Given the description of an element on the screen output the (x, y) to click on. 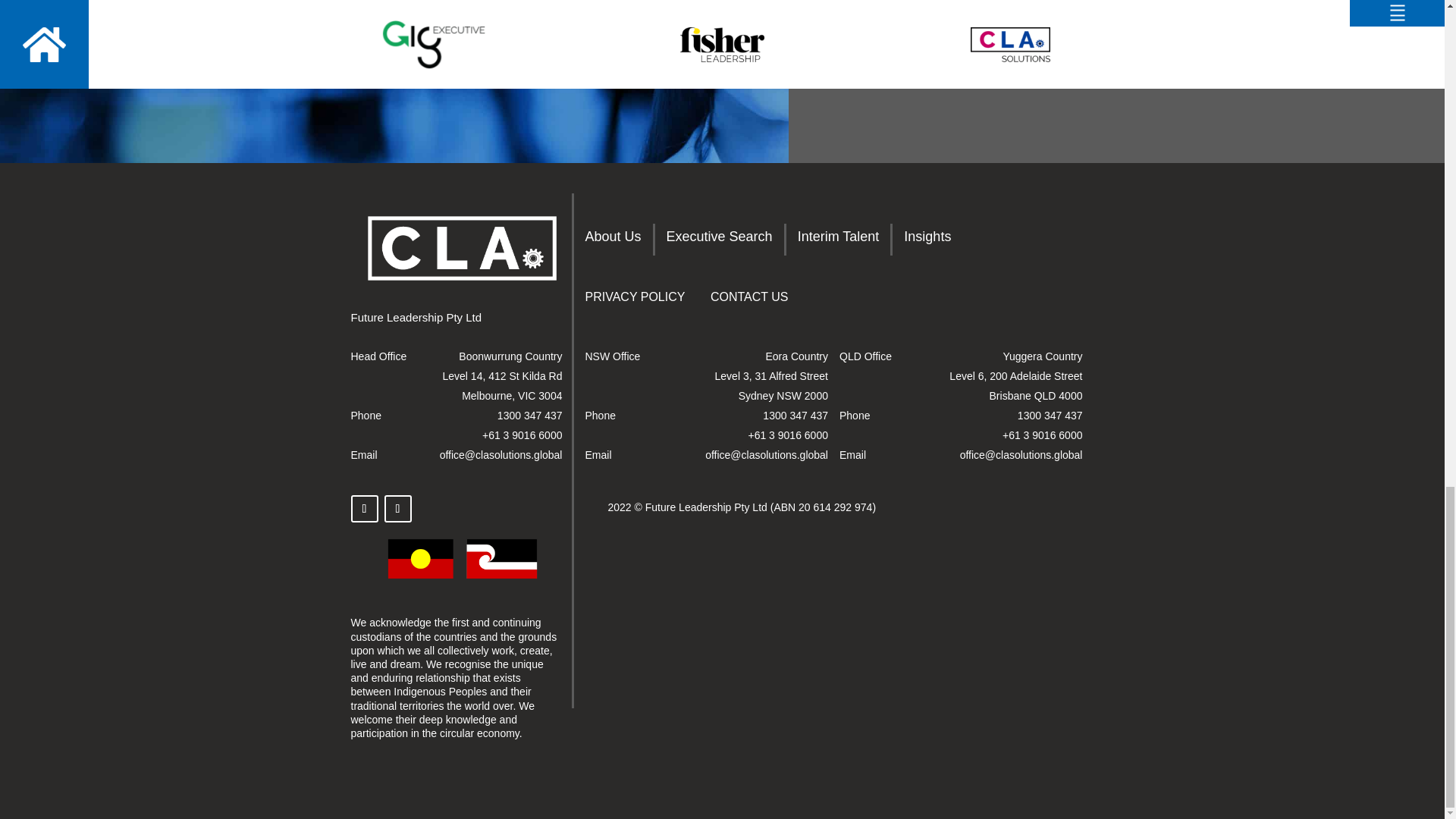
Untitled design-3 (461, 558)
Follow on LinkedIn (397, 508)
Follow on X (363, 508)
